Given the description of an element on the screen output the (x, y) to click on. 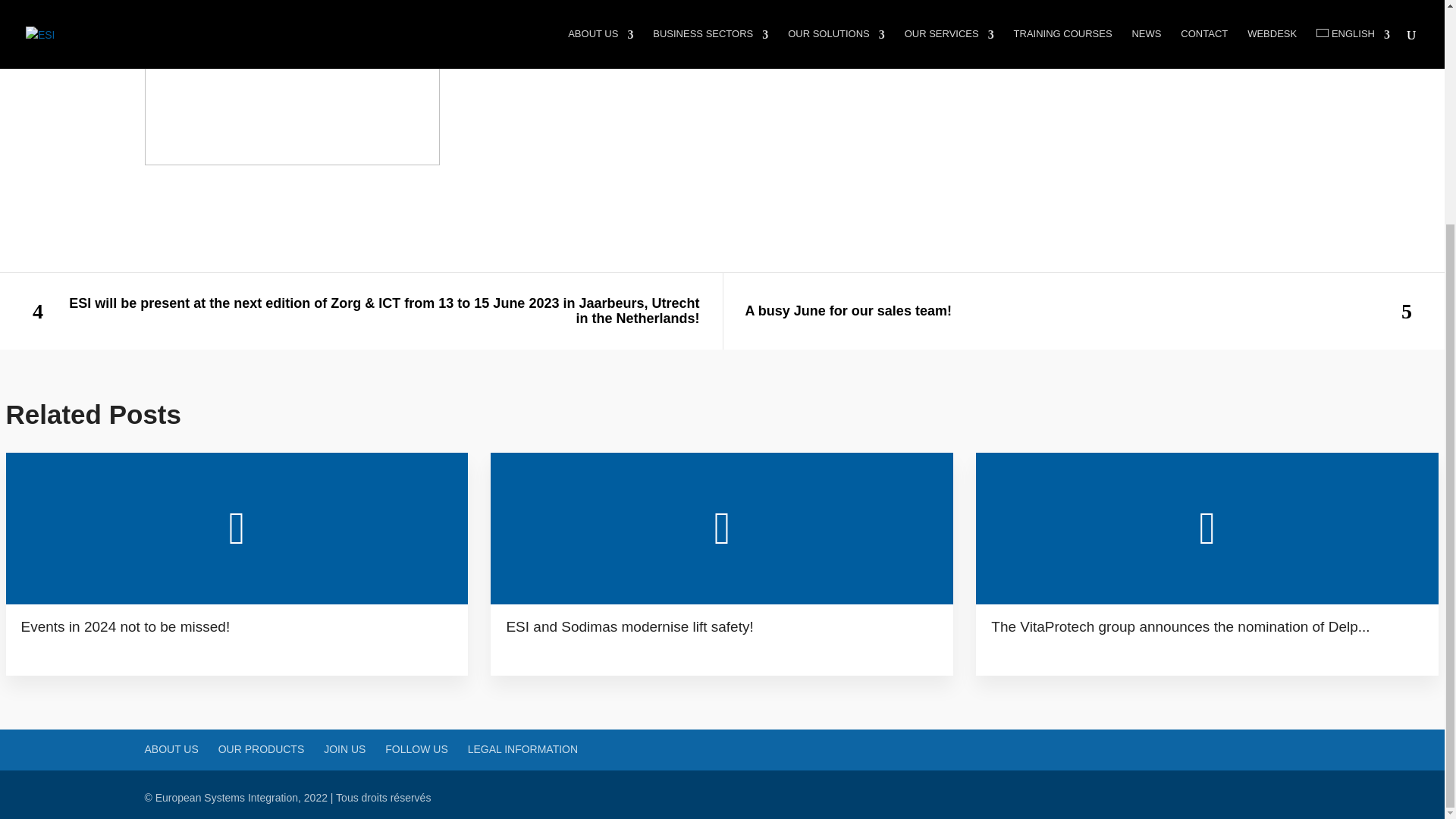
READ MORE (545, 649)
READ MORE (60, 649)
A busy June for our sales team! (1083, 311)
ABOUT US (171, 748)
READ MORE (1030, 649)
Events in 2024 not to be missed! (236, 623)
OUR PRODUCTS (261, 748)
ESI and Sodimas modernise lift safety! (721, 623)
The VitaProtech group announces the nomination of Delp... (1206, 623)
